Given the description of an element on the screen output the (x, y) to click on. 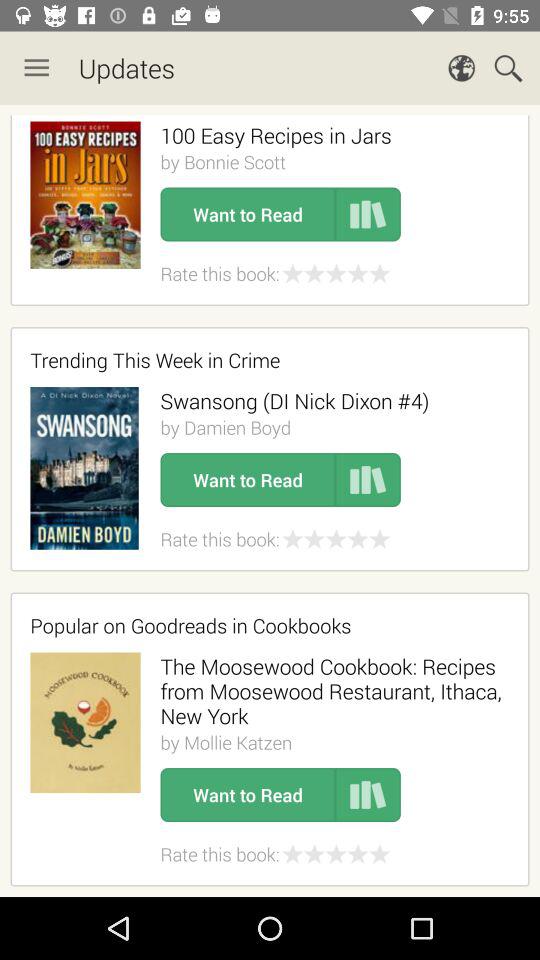
new updates (270, 501)
